Given the description of an element on the screen output the (x, y) to click on. 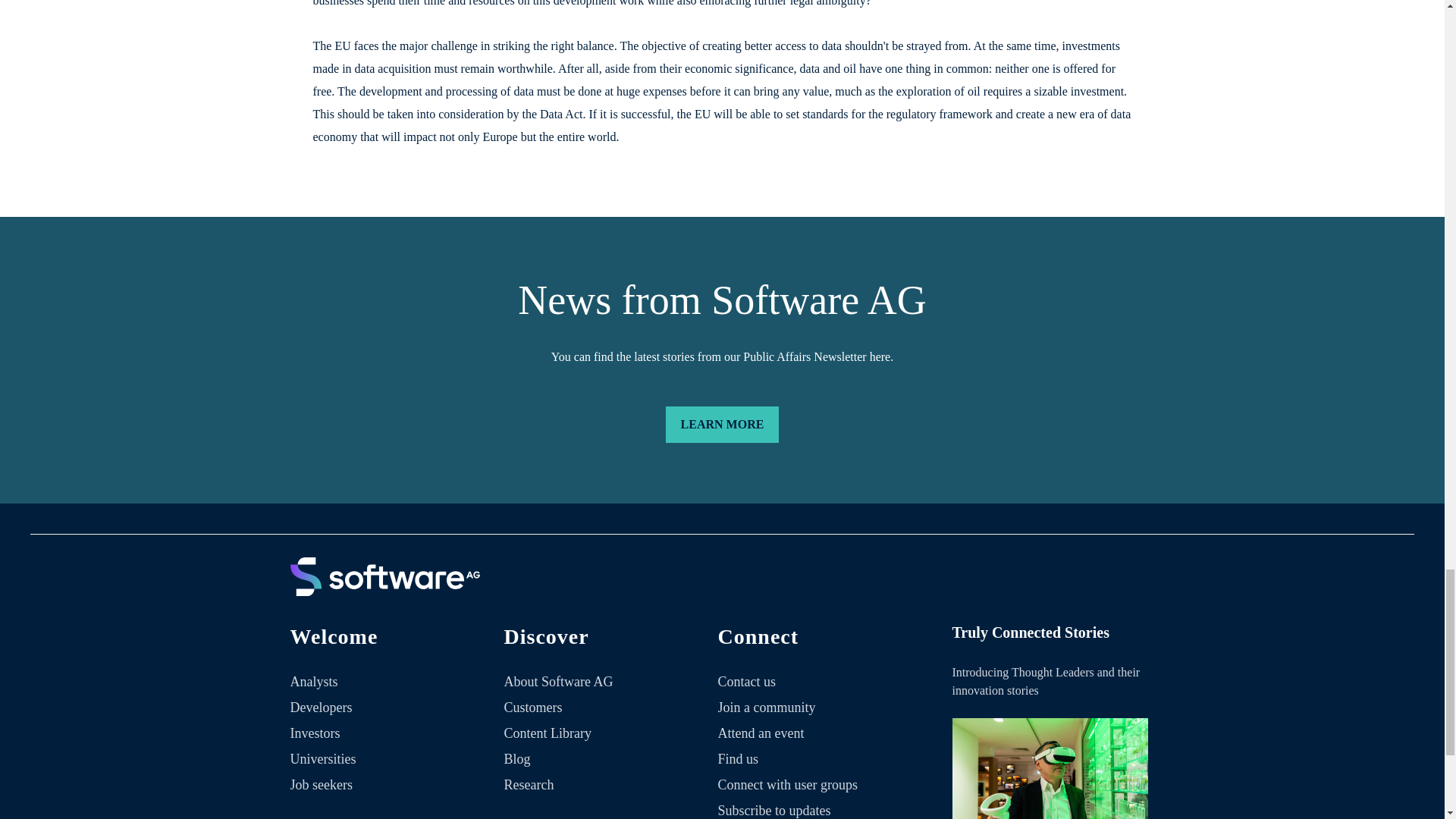
Content Library (547, 733)
Blog (517, 758)
About Software AG (557, 681)
Universities (322, 758)
Software AG Investor Relation (384, 592)
Truly Connected Stories (1050, 768)
LEARN MORE (721, 424)
Job seekers (320, 784)
Learn more (721, 424)
Analysts (313, 681)
Developers (320, 707)
Connect (817, 644)
Attend an event (761, 733)
Join a community (766, 707)
Welcome (389, 644)
